Given the description of an element on the screen output the (x, y) to click on. 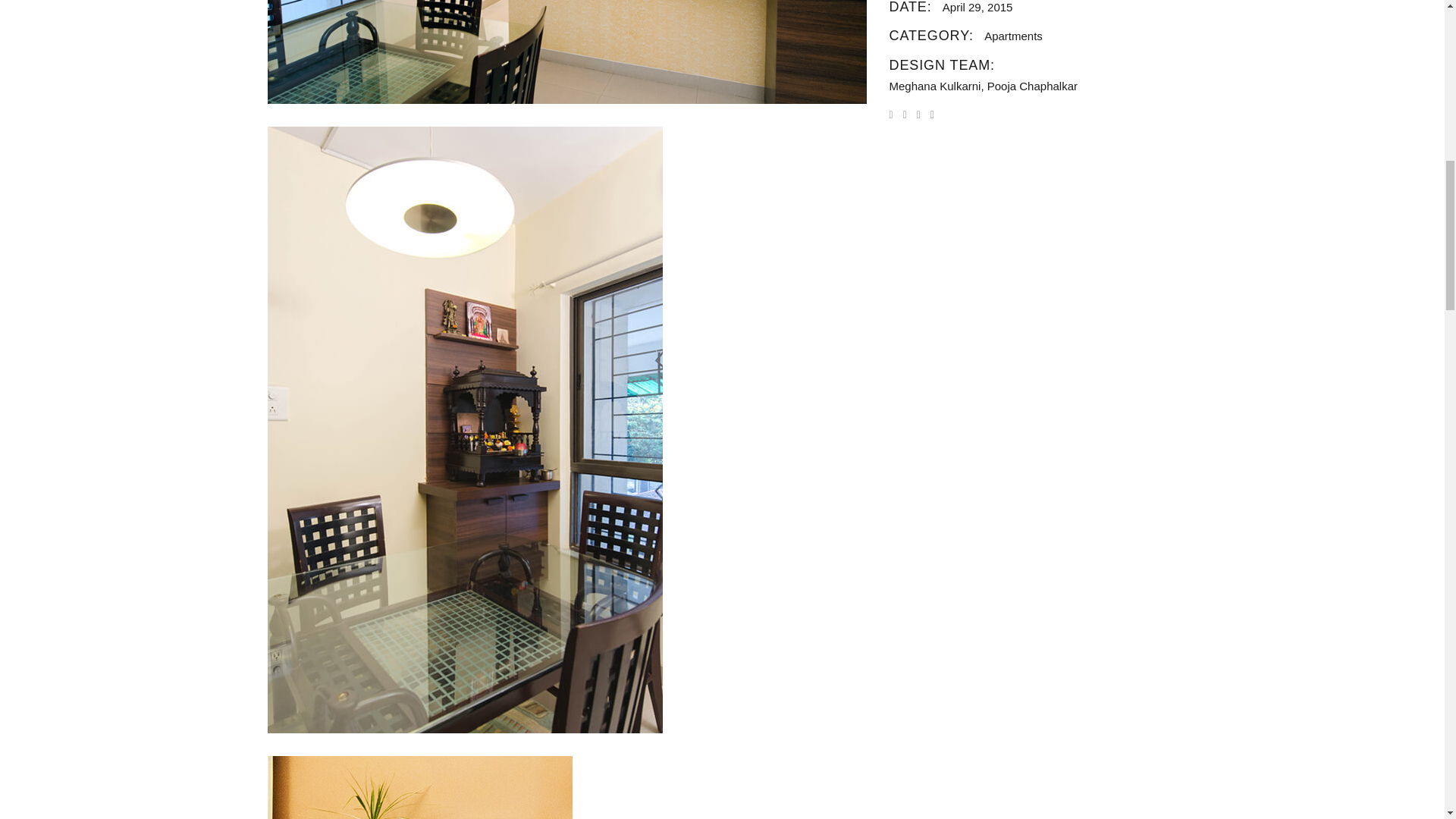
Apartments (1013, 35)
